Given the description of an element on the screen output the (x, y) to click on. 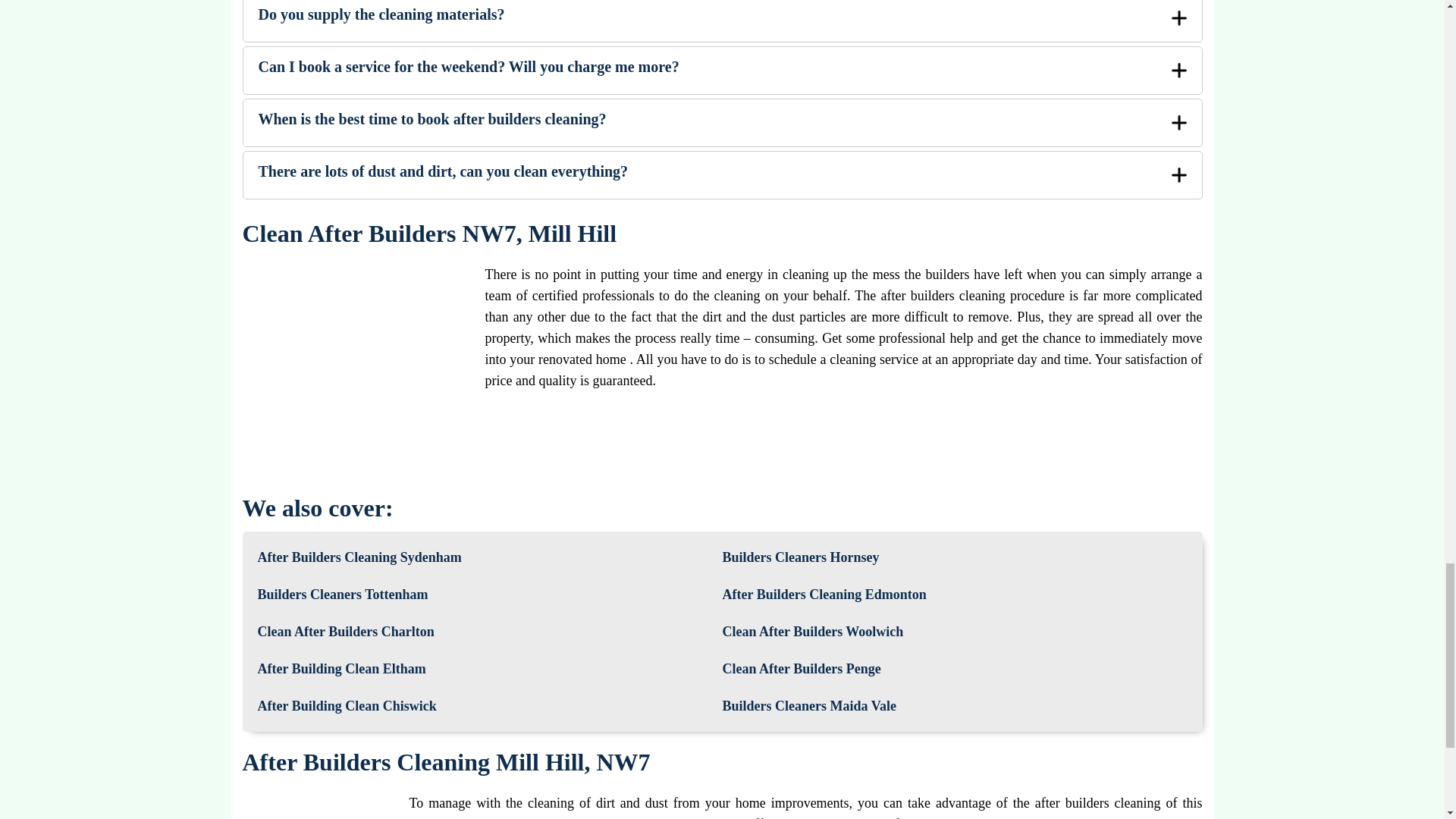
N8 Builders Cleaners Hornsey (800, 557)
N15 Builders Cleaners Tottenham (342, 594)
After Builders Cleaning Sydenham (359, 557)
W9 Builders Cleaners Maida Vale (809, 706)
SE9 After Building Clean Eltham (341, 669)
SE20 Clean After Builders Penge (801, 669)
N9 After Builders Cleaning Edmonton (824, 594)
After Builders Cleaning Edmonton (824, 594)
Builders Cleaners Tottenham (342, 594)
SE18 Clean After Builders Woolwich (812, 631)
